Given the description of an element on the screen output the (x, y) to click on. 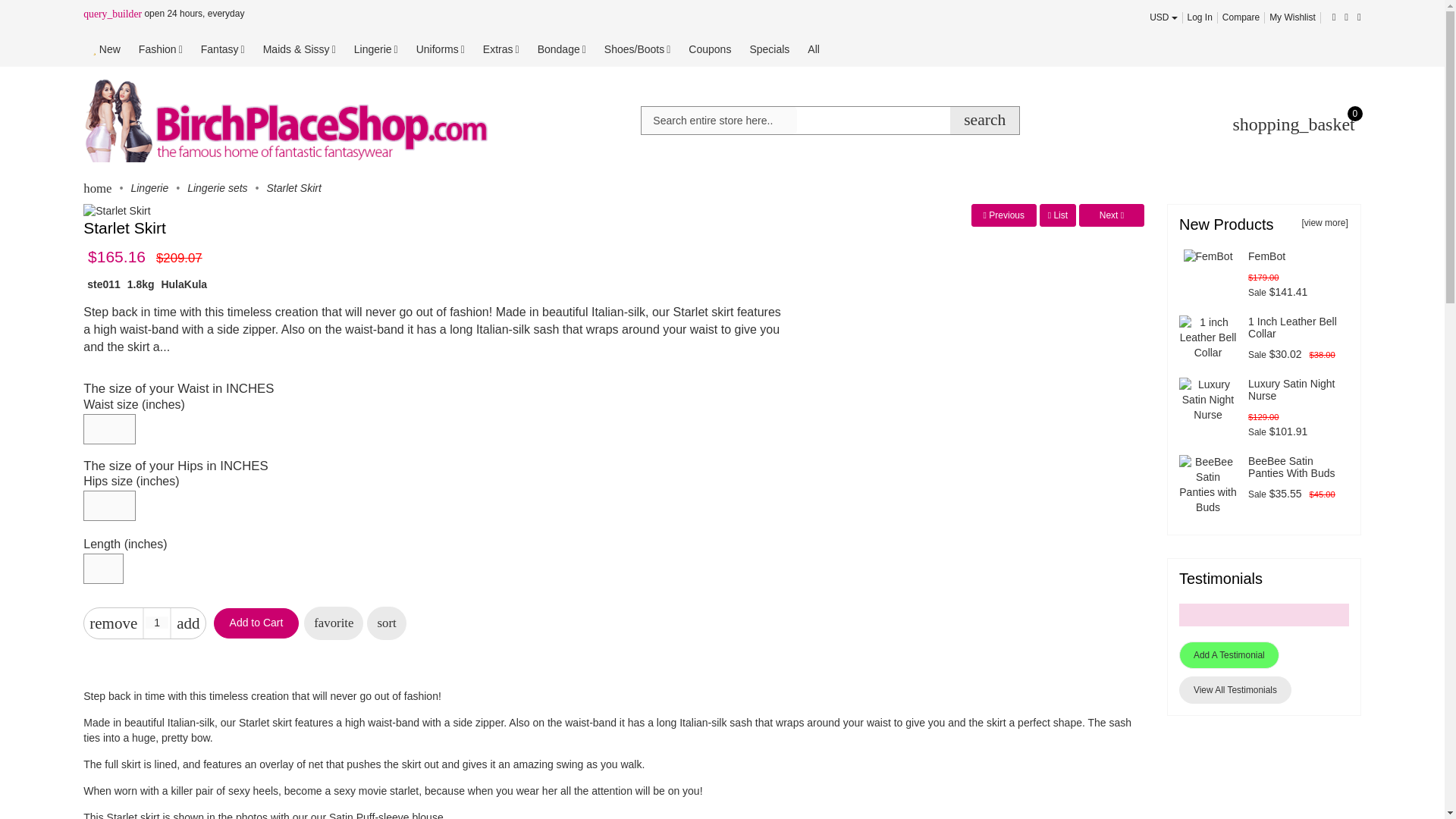
Search entire store here.. (719, 120)
Add to Wishlist (333, 622)
Add to Compare (386, 622)
1 (156, 622)
 Starlet Skirt  (115, 211)
Log In (1200, 17)
My Wishlist (1292, 17)
Compare (1241, 17)
